Given the description of an element on the screen output the (x, y) to click on. 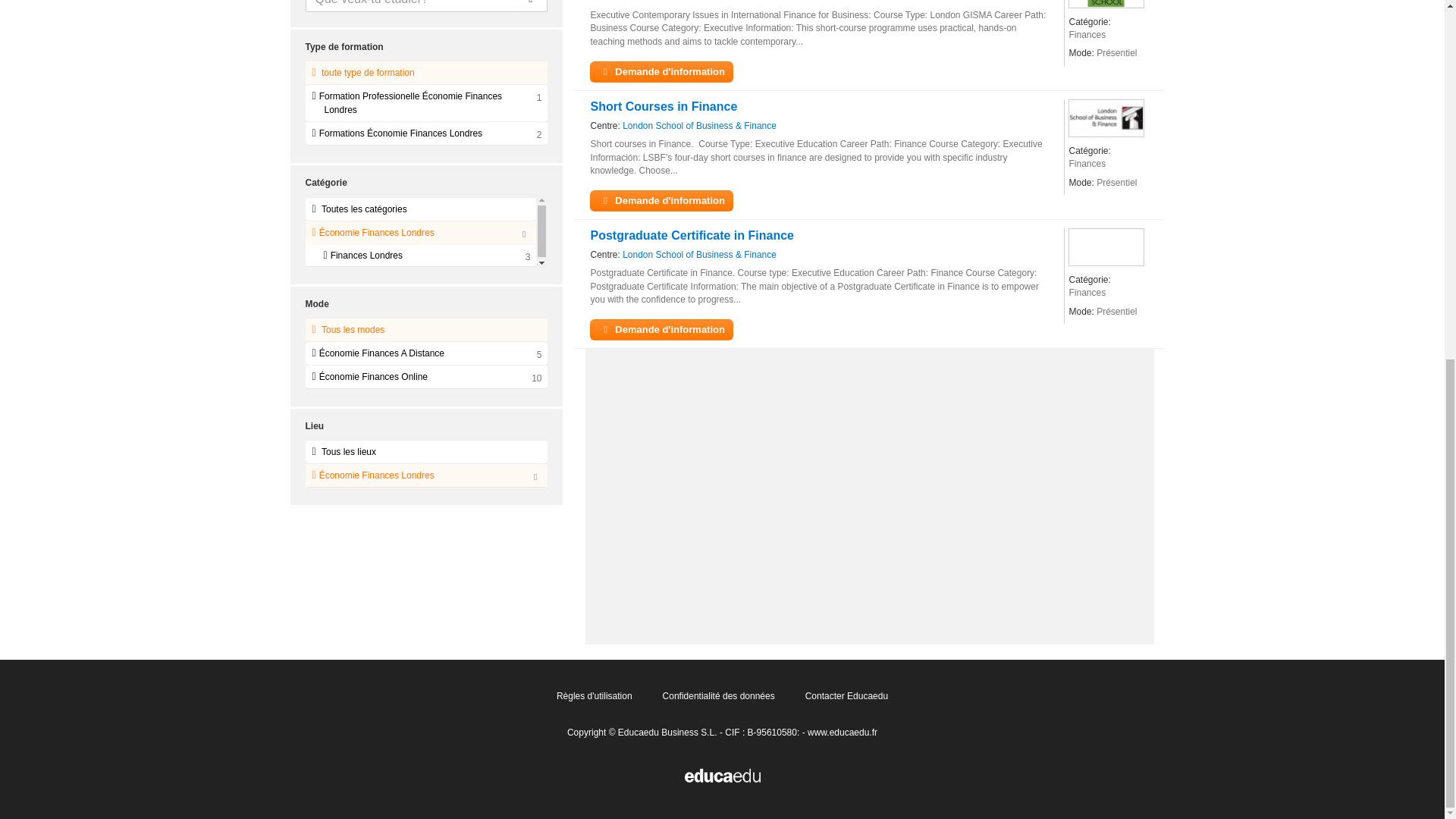
Gisma- (1106, 4)
toute type de formation (425, 72)
Short Courses in Finance (662, 106)
Demande d'information (660, 72)
Gisma- (637, 2)
Postgraduate Certificate in Finance (691, 235)
Demande d'information (660, 201)
Gisma- (637, 2)
Short Courses in Finance (662, 106)
Postgraduate Certificate in Finance (691, 235)
